Given the description of an element on the screen output the (x, y) to click on. 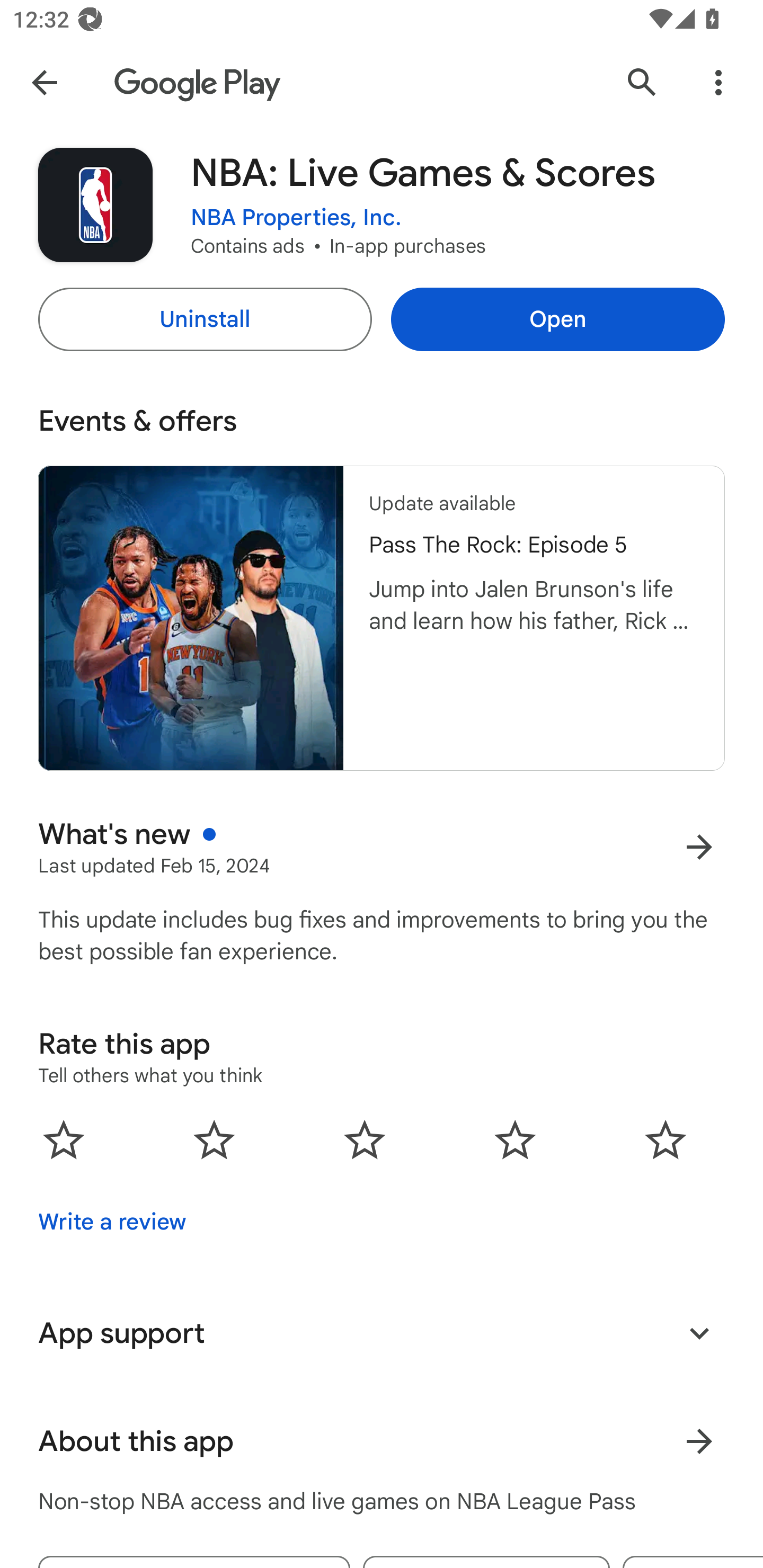
Navigate up (44, 81)
Search Google Play (642, 81)
More Options (718, 81)
NBA Properties, Inc. (295, 217)
Uninstall (205, 318)
Open (557, 318)
More results for What's new (699, 847)
0.0 (364, 1138)
Write a review (112, 1221)
App support Expand (381, 1333)
Expand (699, 1333)
About this app Learn more About this app (381, 1441)
Learn more About this app (699, 1441)
